Given the description of an element on the screen output the (x, y) to click on. 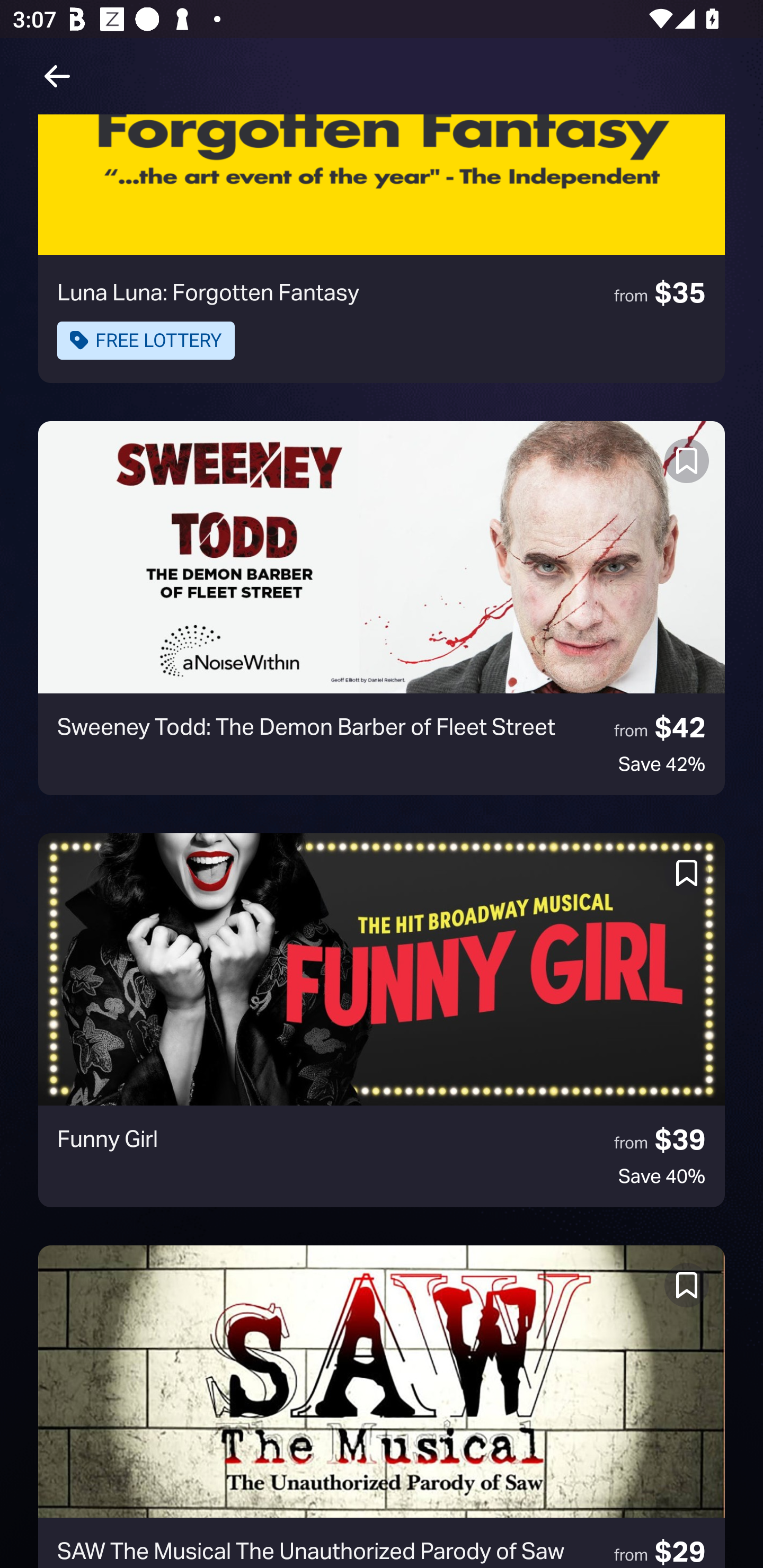
Luna Luna: Forgotten Fantasy from $35 FREE LOTTERY (381, 248)
Funny Girl from $39 Save 40% (381, 1019)
